Given the description of an element on the screen output the (x, y) to click on. 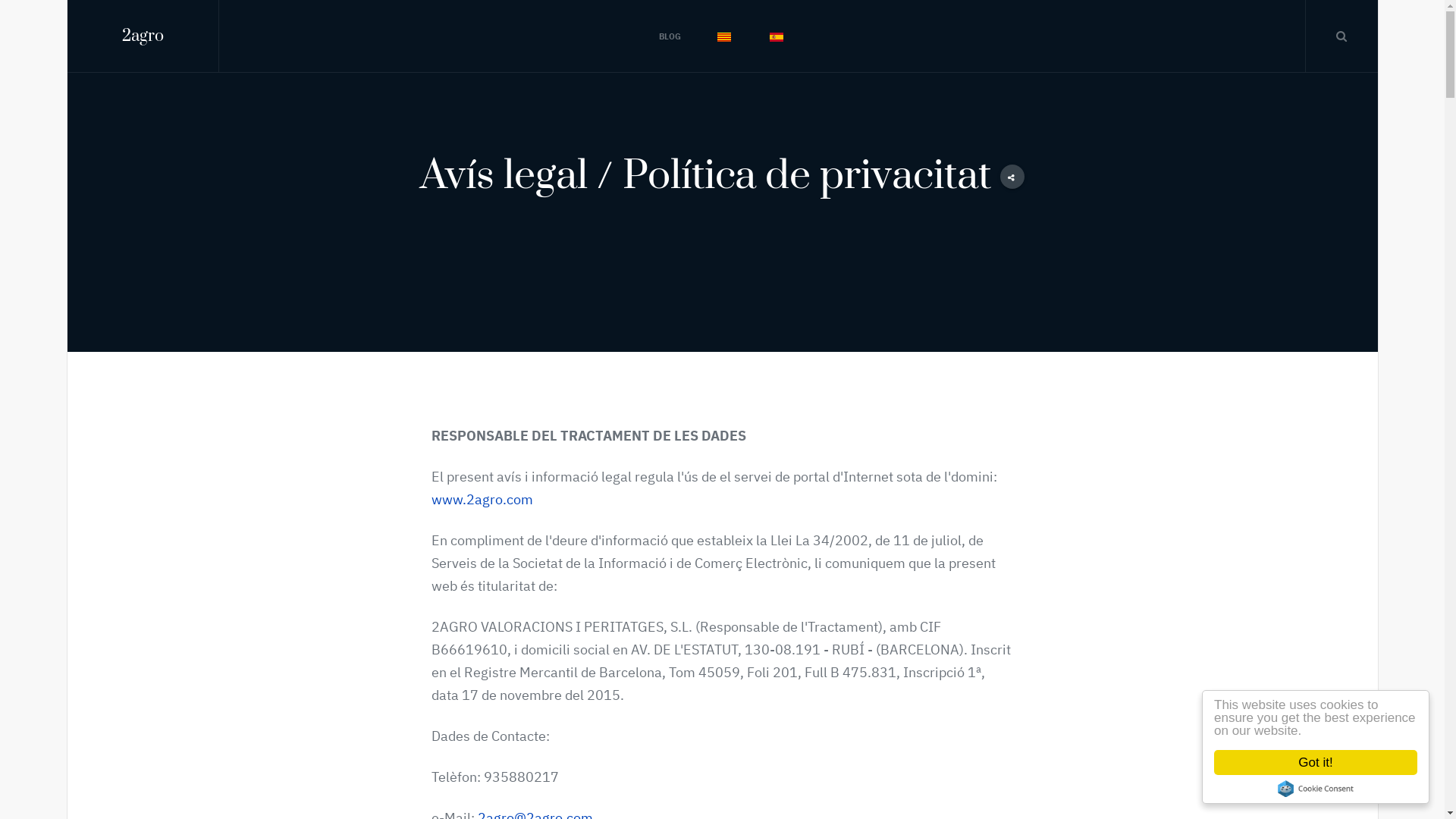
BLOG Element type: text (669, 36)
Got it! Element type: text (1315, 762)
www.2agro.com Element type: text (481, 499)
2agro Element type: text (142, 36)
gkSearch Element type: text (1340, 36)
Cookie Consent plugin for the EU cookie law Element type: text (1315, 788)
  Element type: text (725, 36)
  Element type: text (777, 36)
